Given the description of an element on the screen output the (x, y) to click on. 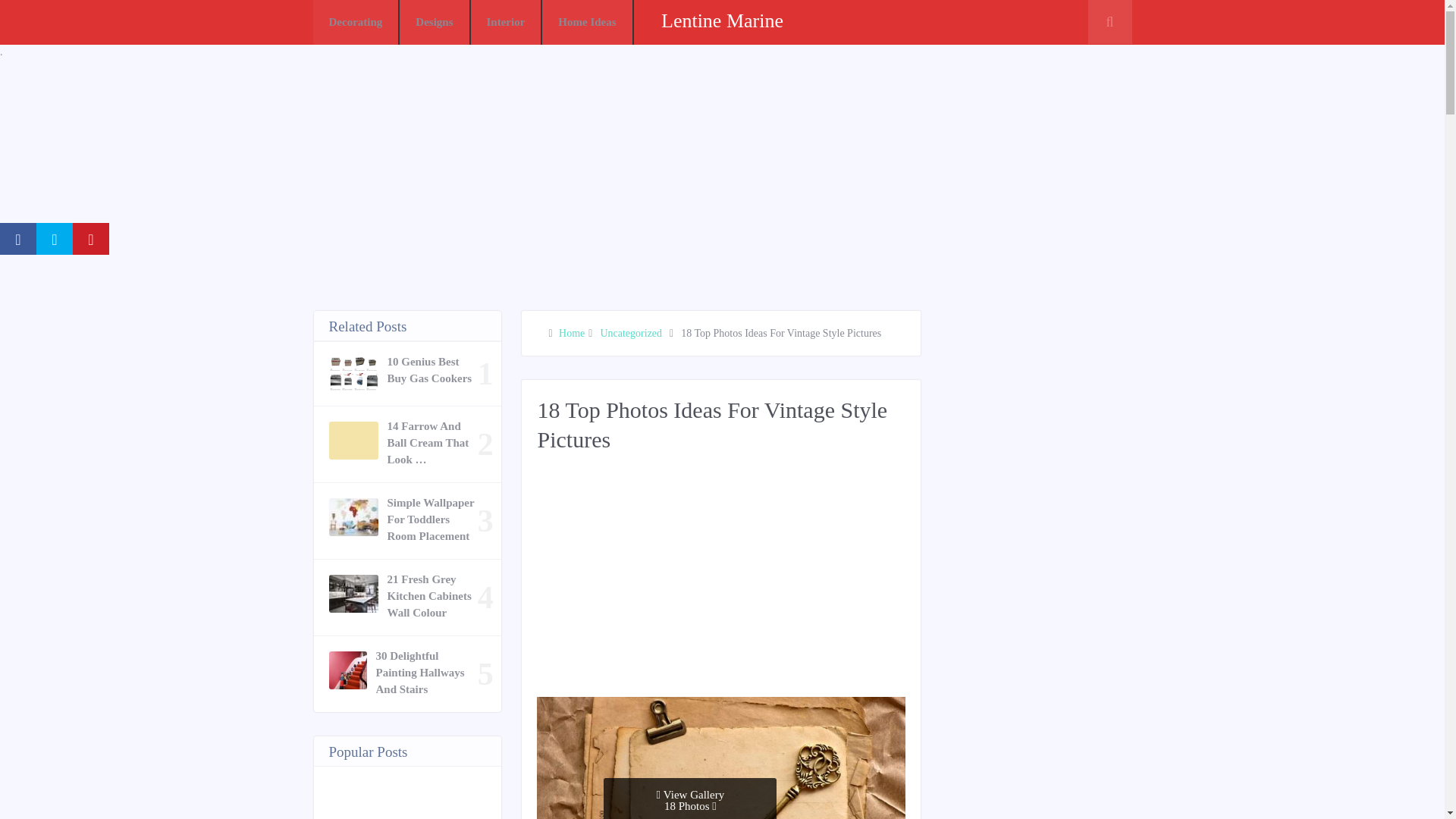
Designs (434, 22)
Home Ideas (587, 22)
Interior (505, 22)
Lentine Marine (722, 20)
Home (572, 333)
Uncategorized (630, 333)
Decorating (355, 22)
Retro Paper Style Vintage (721, 757)
Advertisement (790, 582)
